Given the description of an element on the screen output the (x, y) to click on. 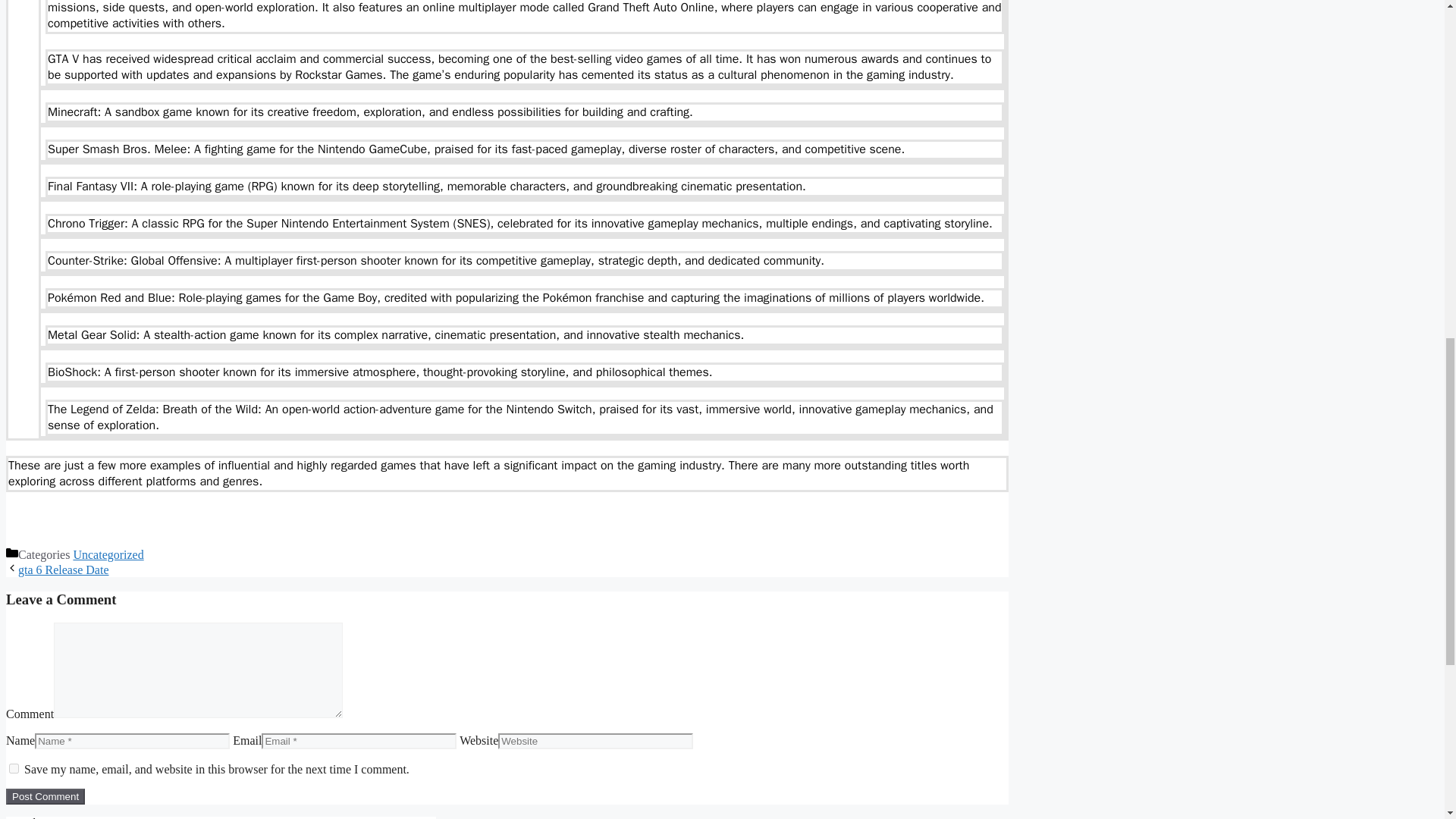
Post Comment (44, 796)
yes (13, 768)
gta 6 Release Date (63, 569)
Uncategorized (107, 554)
Post Comment (44, 796)
